Given the description of an element on the screen output the (x, y) to click on. 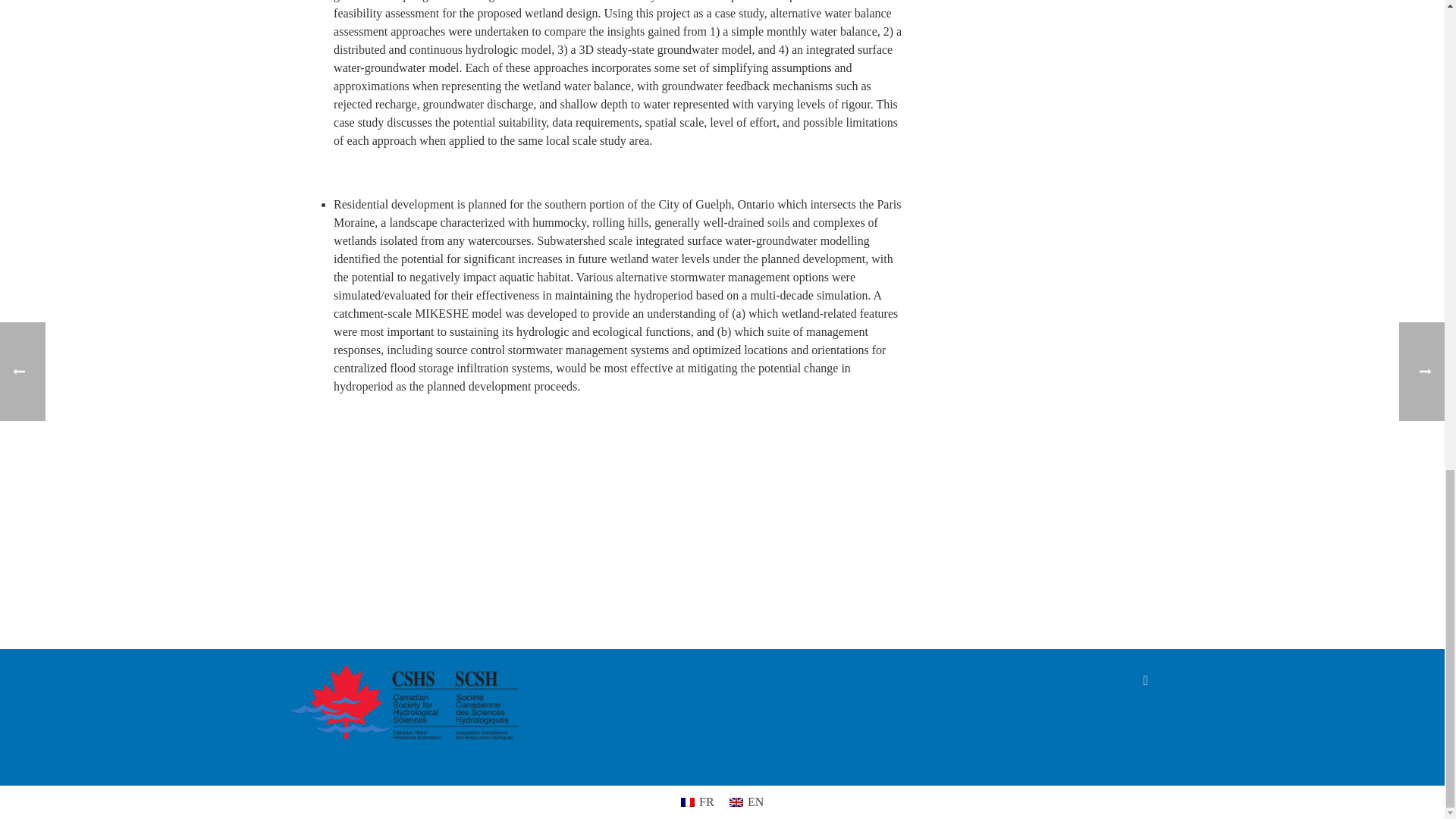
Canadian Water Resources Association (403, 702)
